Given the description of an element on the screen output the (x, y) to click on. 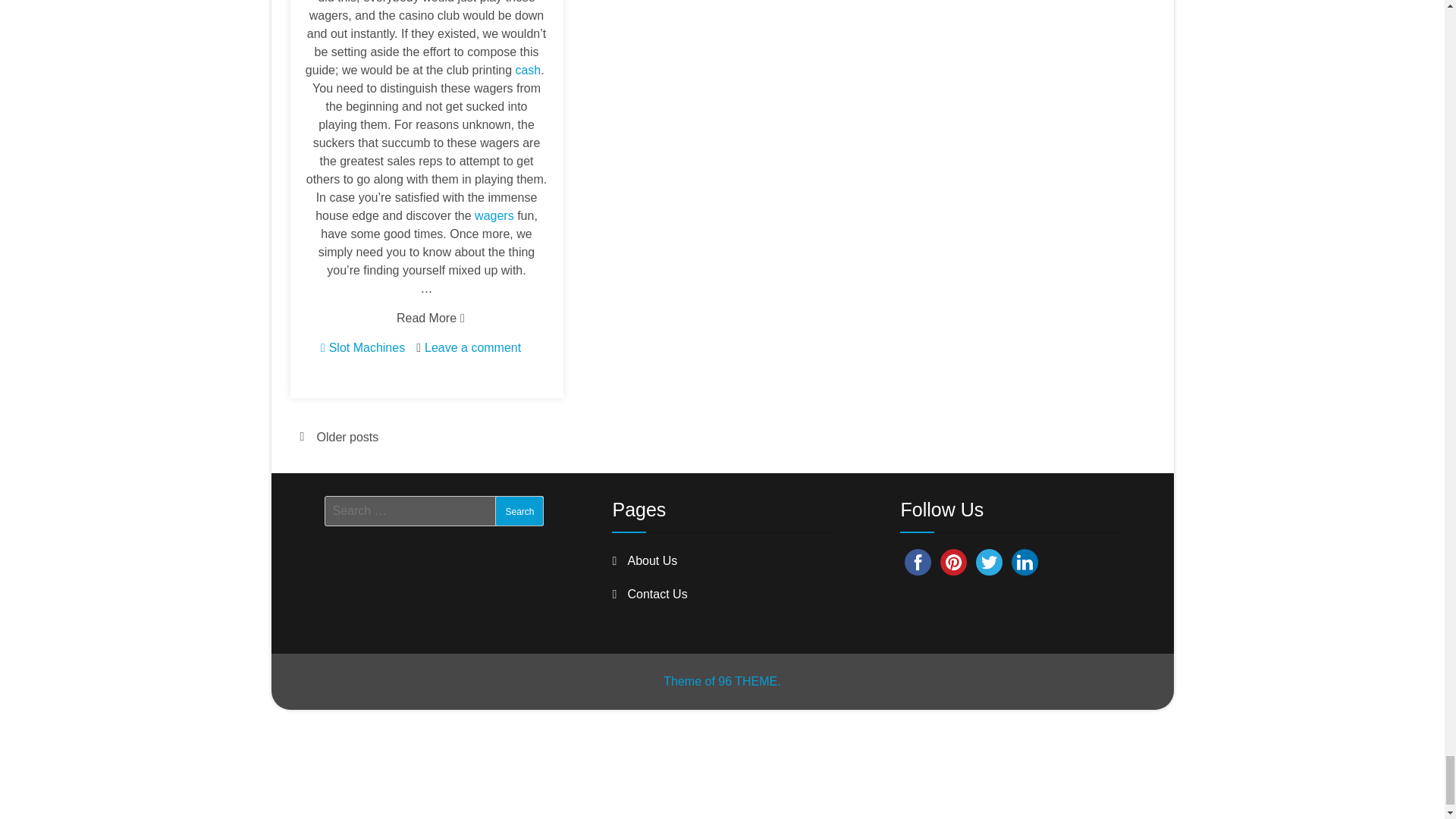
Search (519, 511)
Twitter (989, 561)
Search (519, 511)
Facebook (917, 561)
Pinterest (953, 561)
LinkedIn (1024, 561)
